Given the description of an element on the screen output the (x, y) to click on. 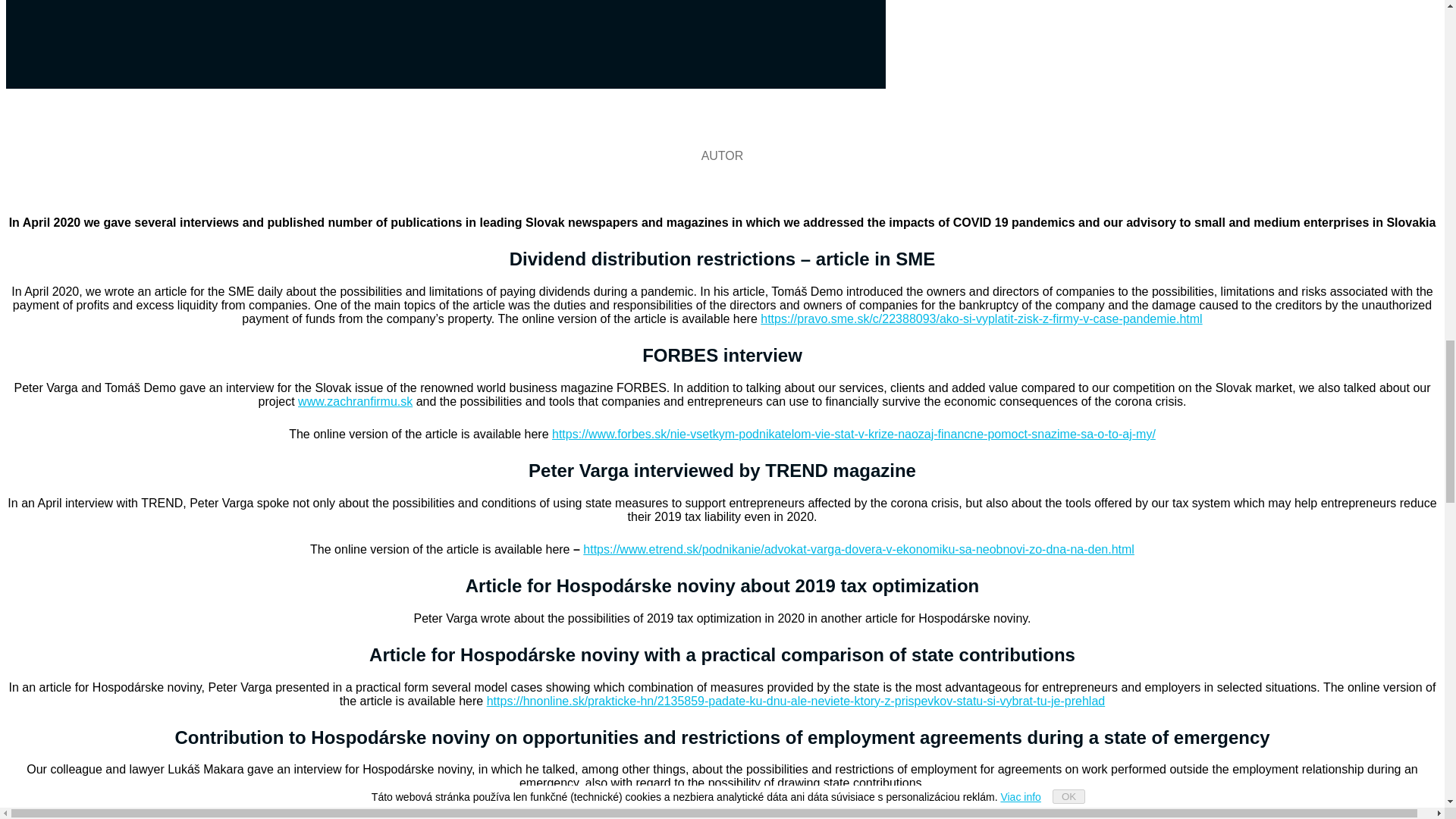
www.zachranfirmu.sk (355, 400)
